Given the description of an element on the screen output the (x, y) to click on. 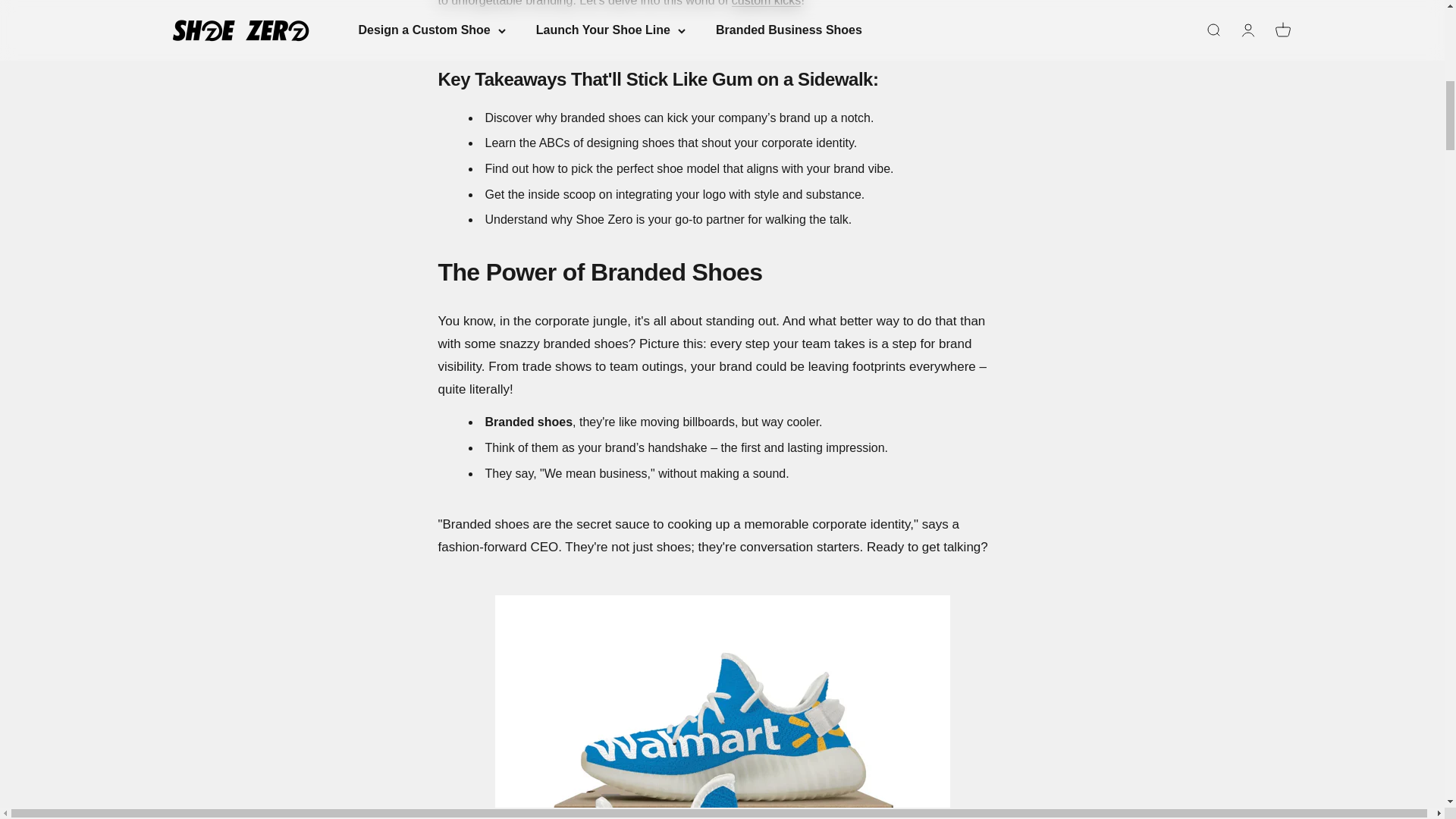
custom kicks (767, 3)
